Given the description of an element on the screen output the (x, y) to click on. 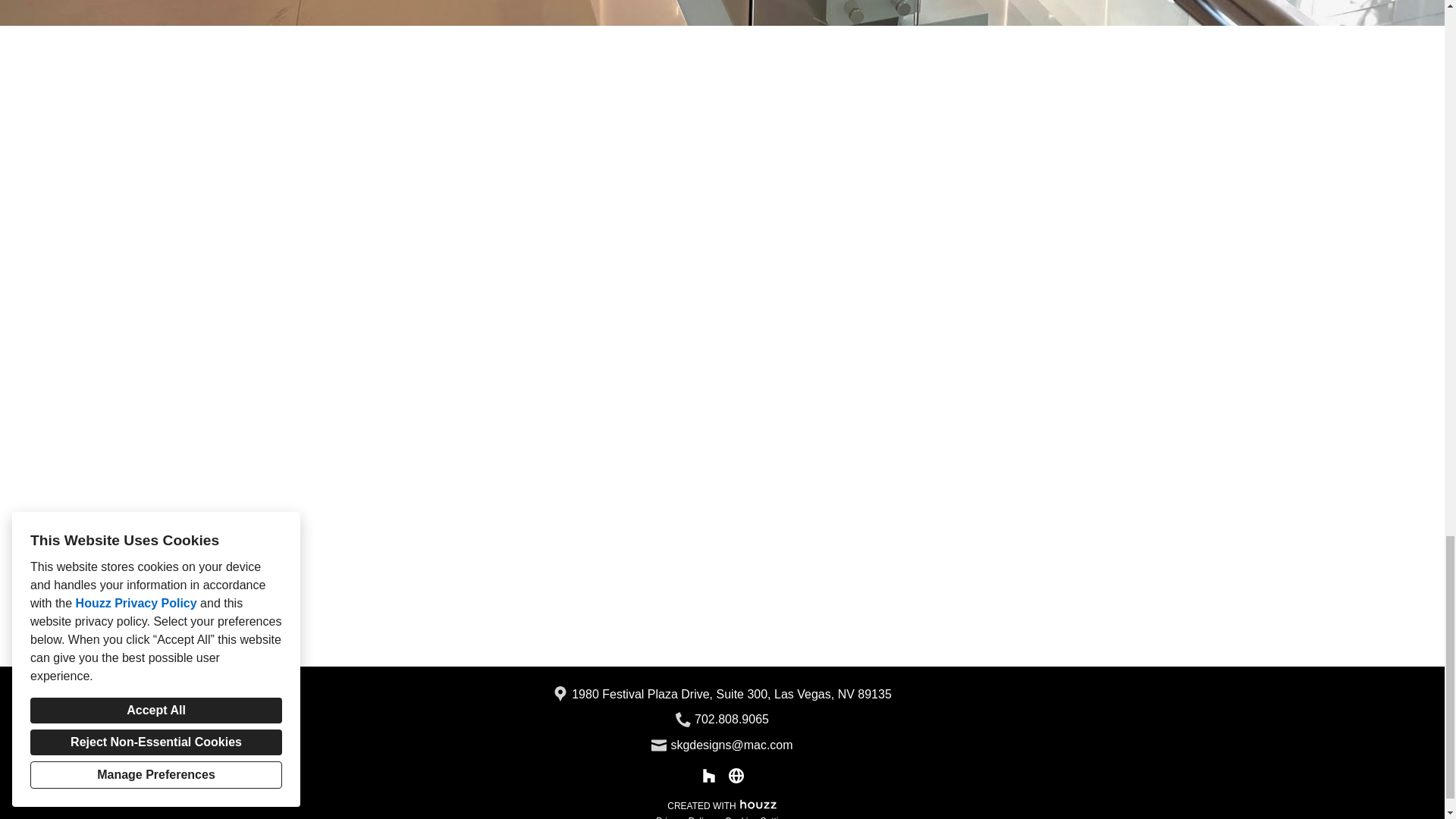
702.808.9065 (731, 719)
CREATED WITHHouzz (722, 803)
Houzz (758, 802)
1980 Festival Plaza Drive, Suite 300, Las Vegas, NV 89135 (731, 694)
Privacy Policy (684, 817)
Cookies Setting (757, 817)
